Given the description of an element on the screen output the (x, y) to click on. 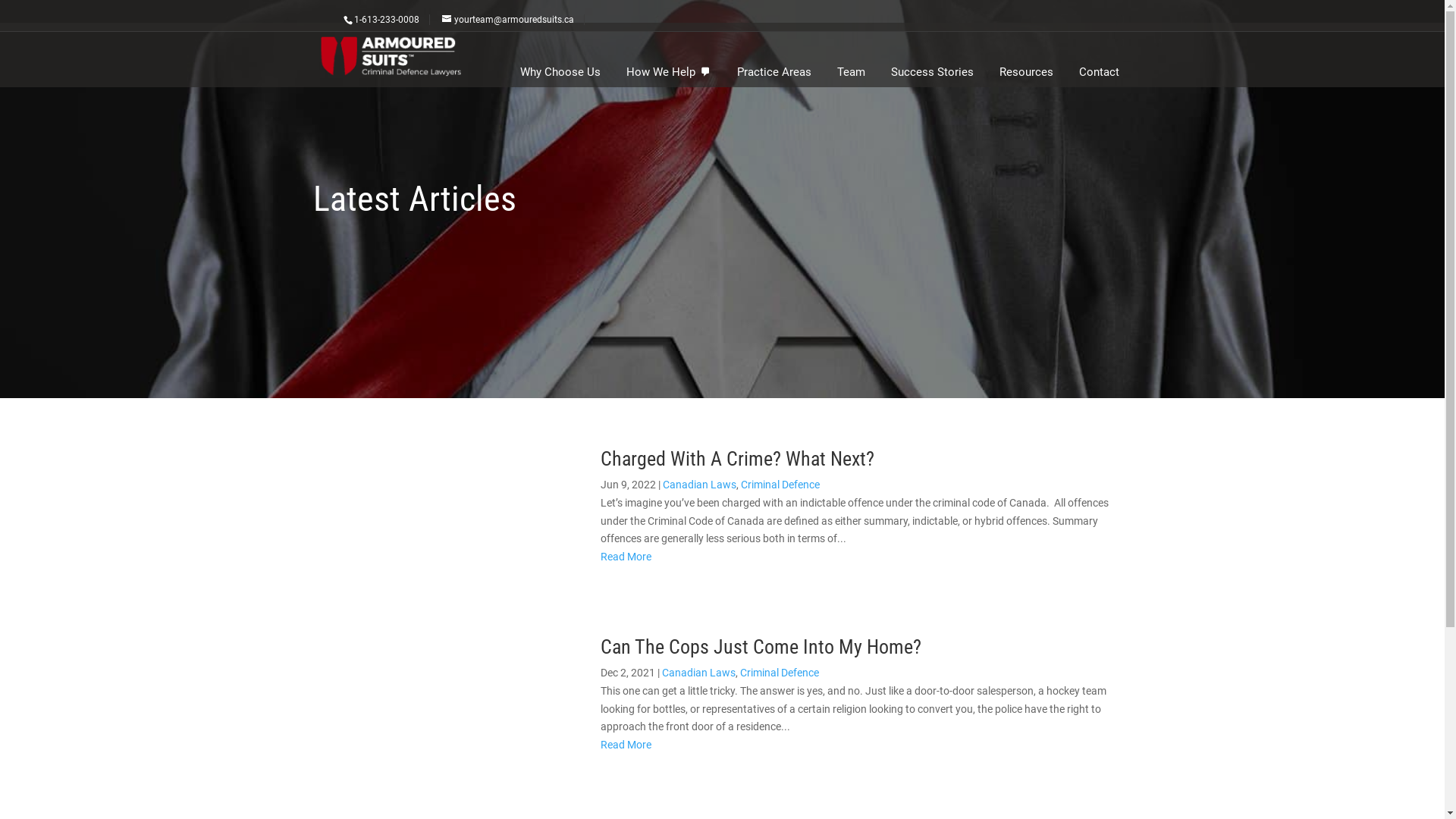
Canadian Laws Element type: text (699, 484)
Contact Element type: text (1099, 71)
Charged With A Crime? What Next? Element type: text (737, 458)
Criminal Defence Element type: text (779, 672)
How We Help Element type: text (667, 71)
Canadian Laws Element type: text (698, 672)
Criminal Defence Element type: text (779, 484)
Resources Element type: text (1025, 71)
Read More Element type: text (625, 556)
Can The Cops Just Come Into My Home? Element type: text (760, 646)
Team Element type: text (850, 71)
Practice Areas Element type: text (773, 71)
Read More Element type: text (625, 744)
Success Stories Element type: text (932, 71)
yourteam@armouredsuits.ca Element type: text (517, 19)
Why Choose Us Element type: text (559, 71)
